Given the description of an element on the screen output the (x, y) to click on. 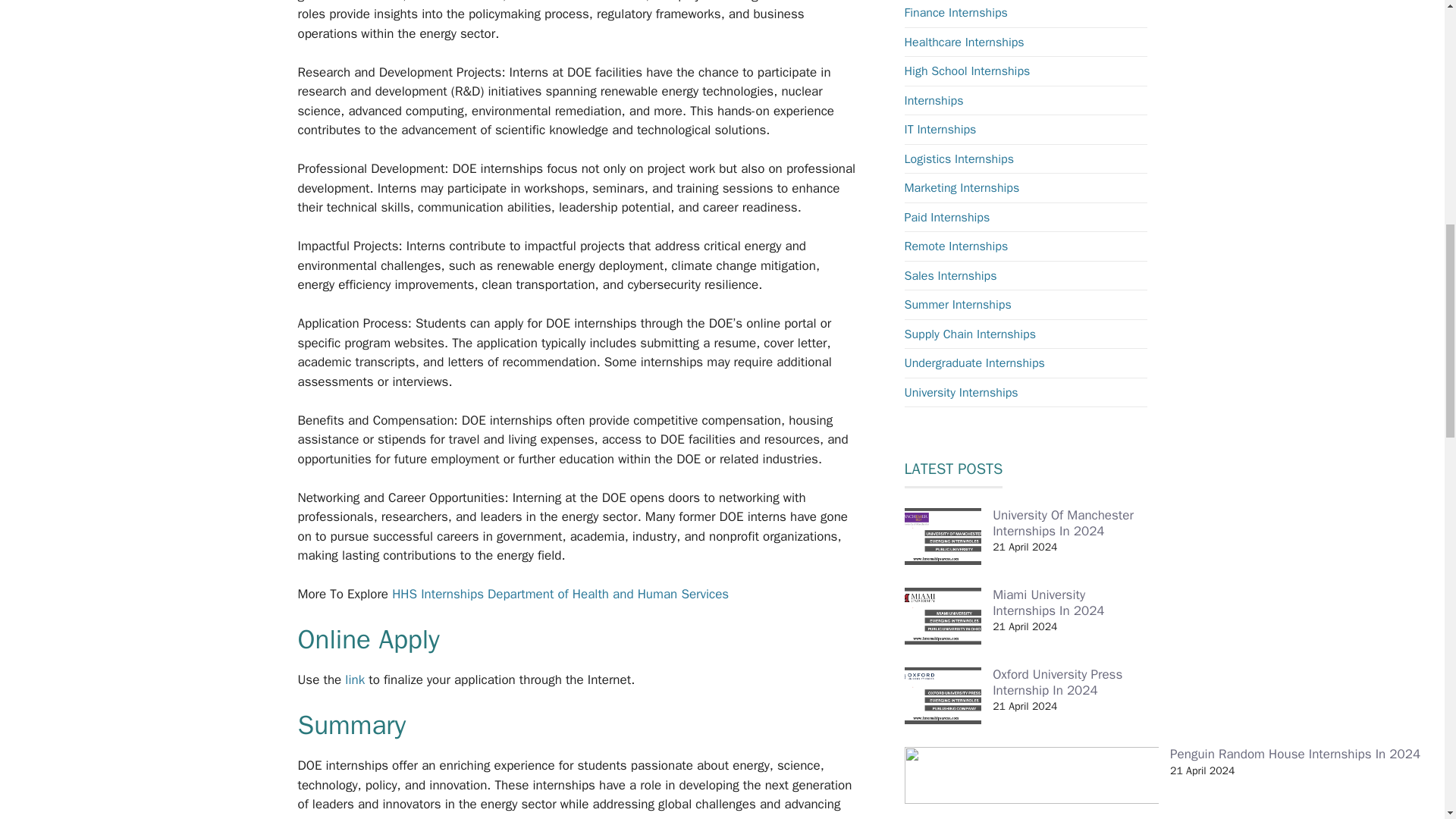
Paid Internships (947, 217)
Summer Internships (957, 304)
Undergraduate Internships (973, 363)
Sales Internships (949, 275)
link  (356, 679)
Remote Internships (955, 246)
Finance Internships (955, 12)
Logistics Internships (958, 159)
IT Internships (939, 129)
HHS Internships Department of Health and Human Services (560, 593)
Marketing Internships (961, 187)
Supply Chain Internships (969, 334)
High School Internships (966, 70)
Healthcare Internships (963, 42)
Internships (933, 100)
